Given the description of an element on the screen output the (x, y) to click on. 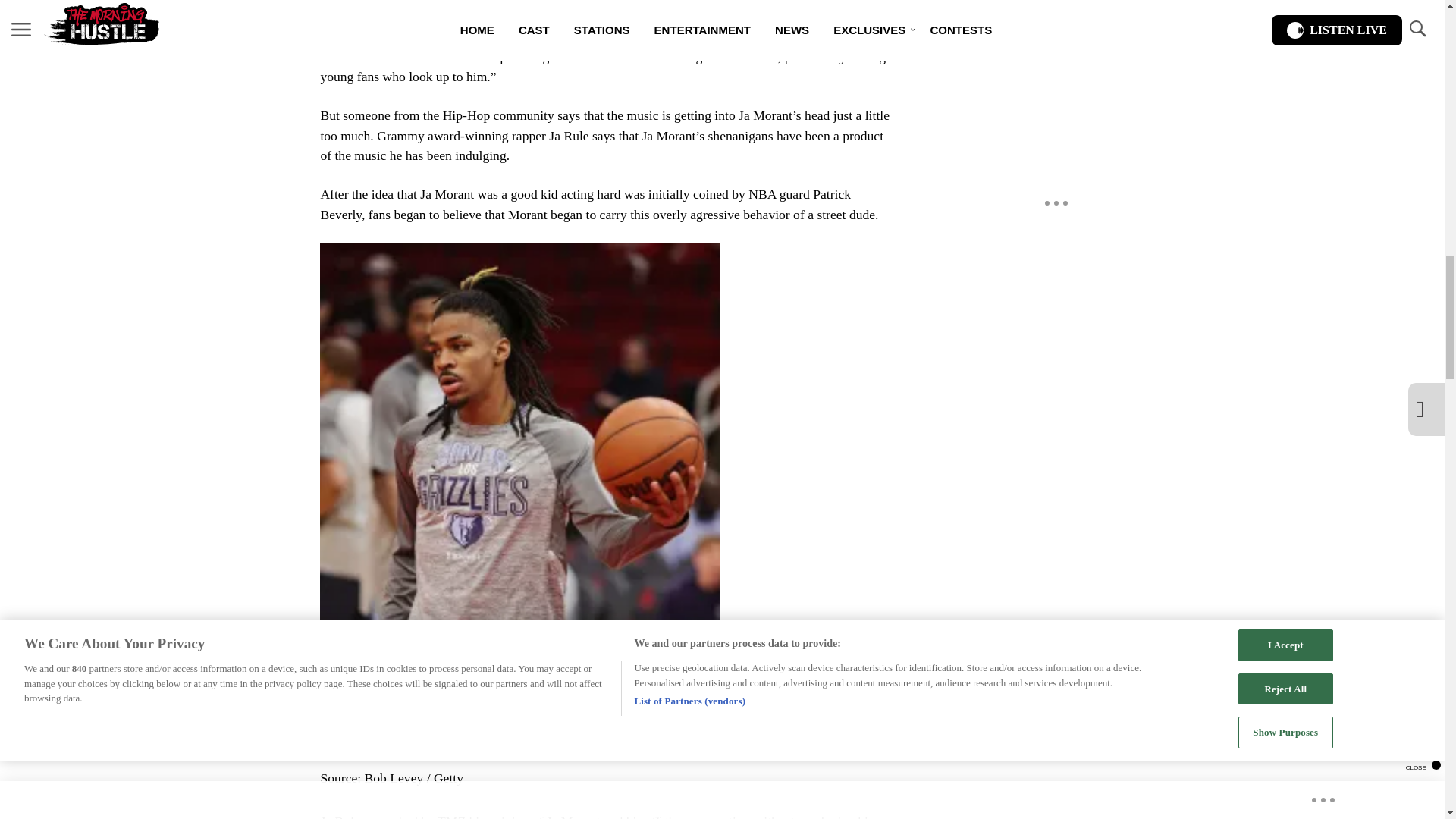
TMZ (451, 816)
